Given the description of an element on the screen output the (x, y) to click on. 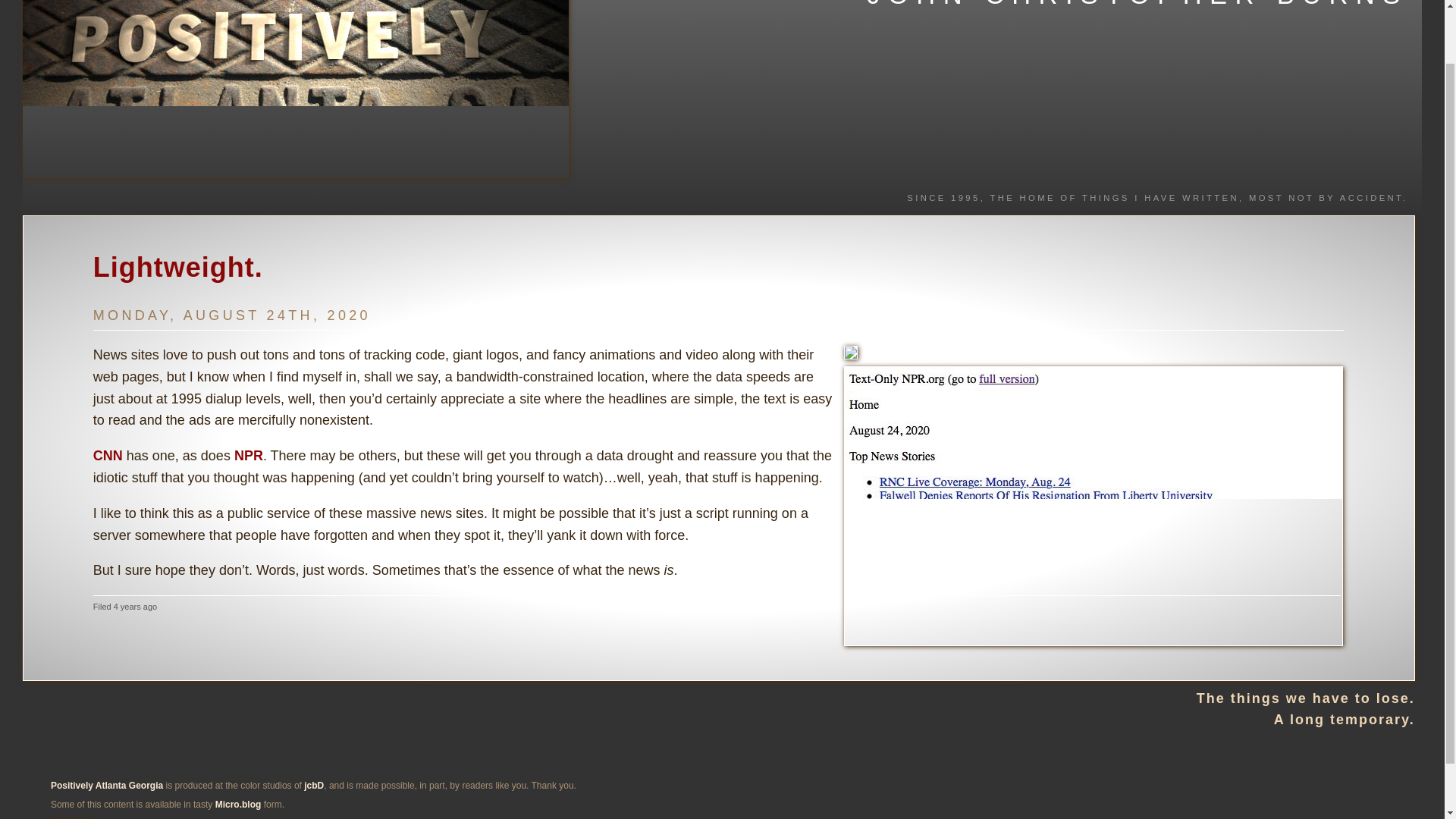
SINCE 1995 (943, 197)
Lightweight. (178, 266)
jcbD (313, 785)
Micro.blog (238, 804)
CNN (107, 455)
NPR (248, 455)
